Given the description of an element on the screen output the (x, y) to click on. 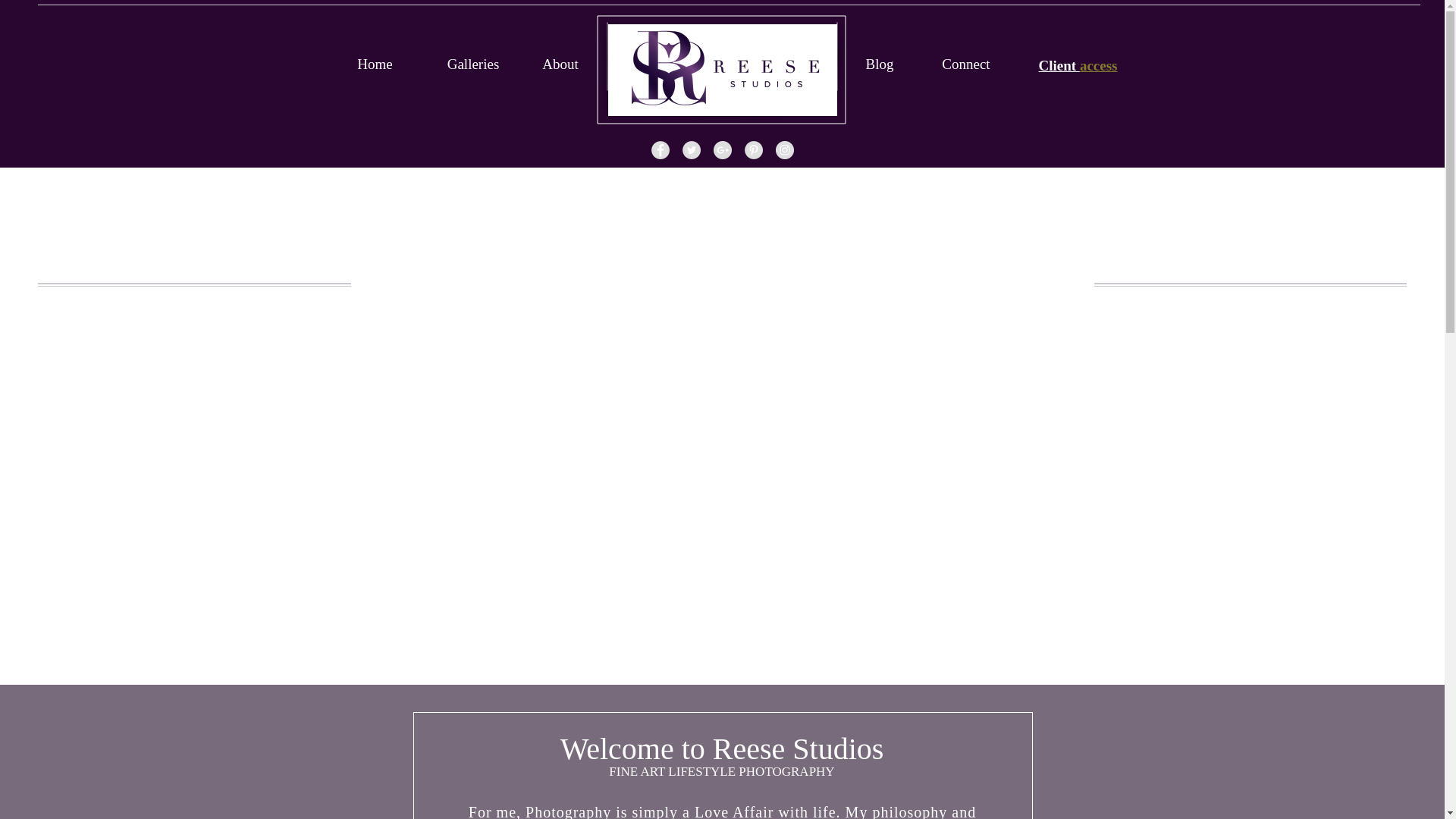
Client access (1078, 65)
Blog (879, 64)
Galleries (472, 64)
Connect (966, 64)
About (559, 64)
Home (373, 64)
